Given the description of an element on the screen output the (x, y) to click on. 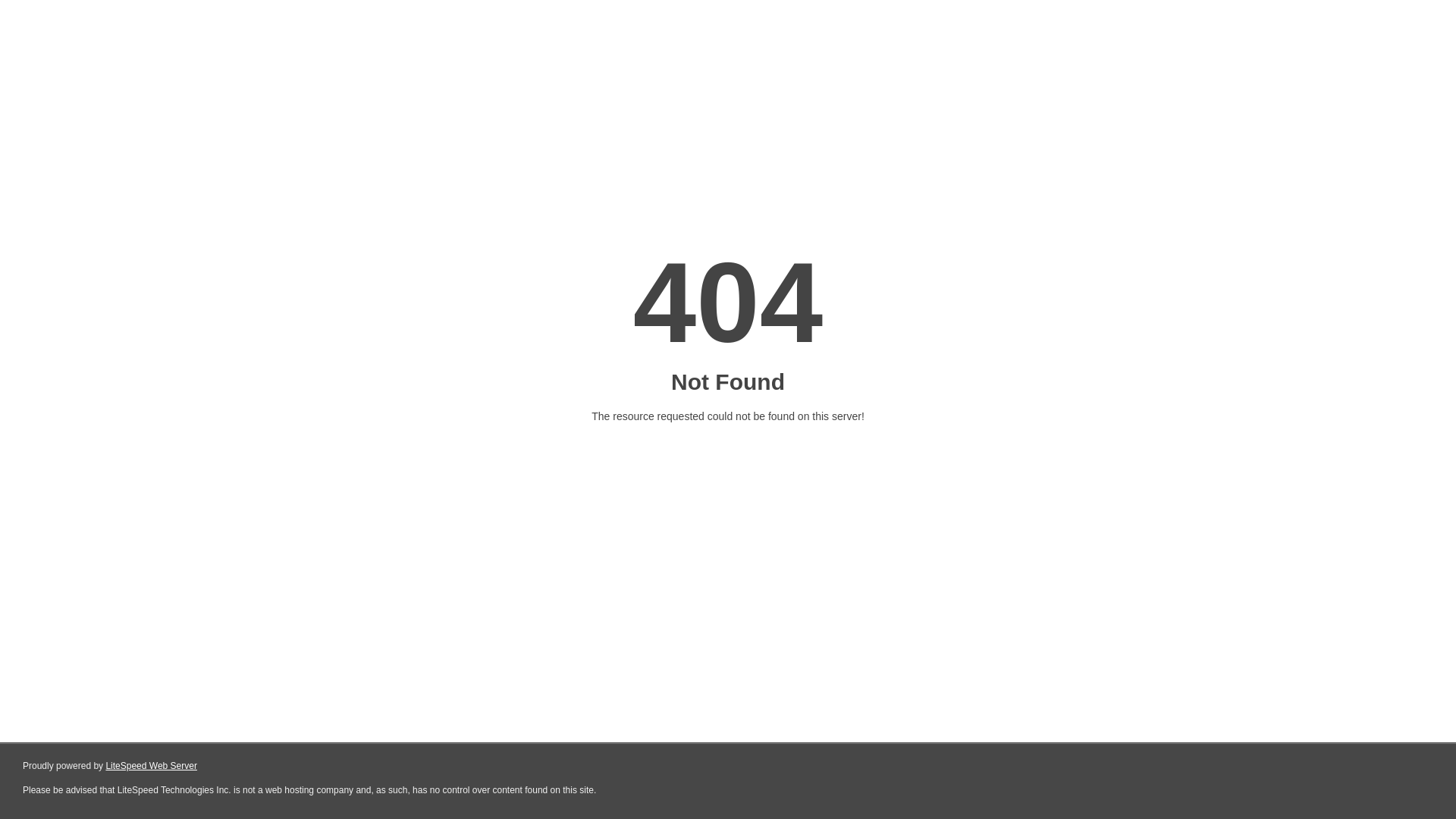
LiteSpeed Web Server Element type: text (151, 765)
